Given the description of an element on the screen output the (x, y) to click on. 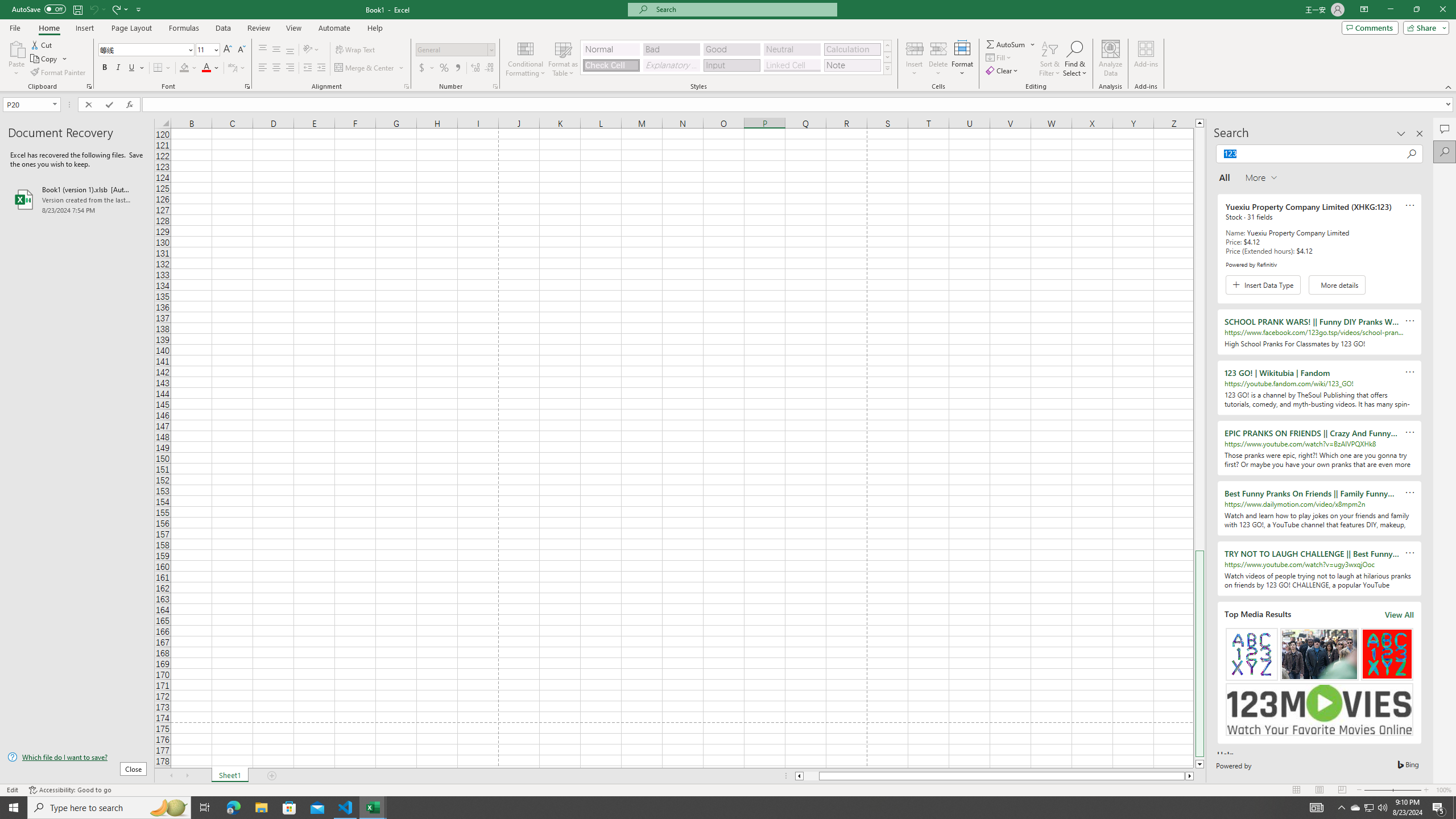
AutoSum (1011, 44)
Font Color (210, 67)
Paste (16, 58)
Format as Table (563, 58)
Decrease Font Size (240, 49)
Number Format (451, 49)
Align Right (290, 67)
